Given the description of an element on the screen output the (x, y) to click on. 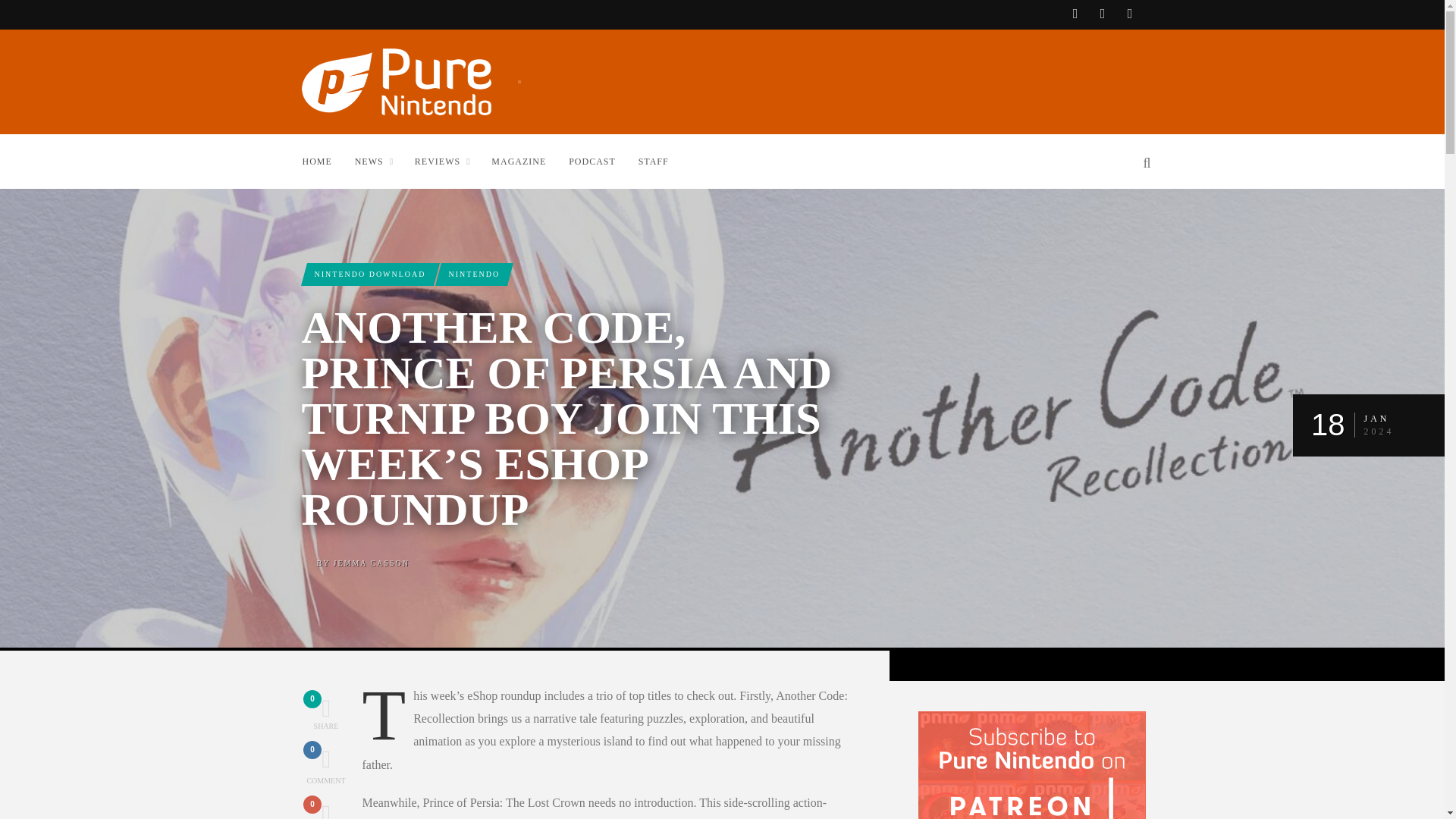
MAGAZINE (529, 160)
NEWS (325, 765)
HOME (384, 160)
NINTENDO DOWNLOAD (327, 160)
JEMMA CASSON (368, 273)
Pure Nintendo Patreon (325, 809)
STAFF (371, 561)
